Given the description of an element on the screen output the (x, y) to click on. 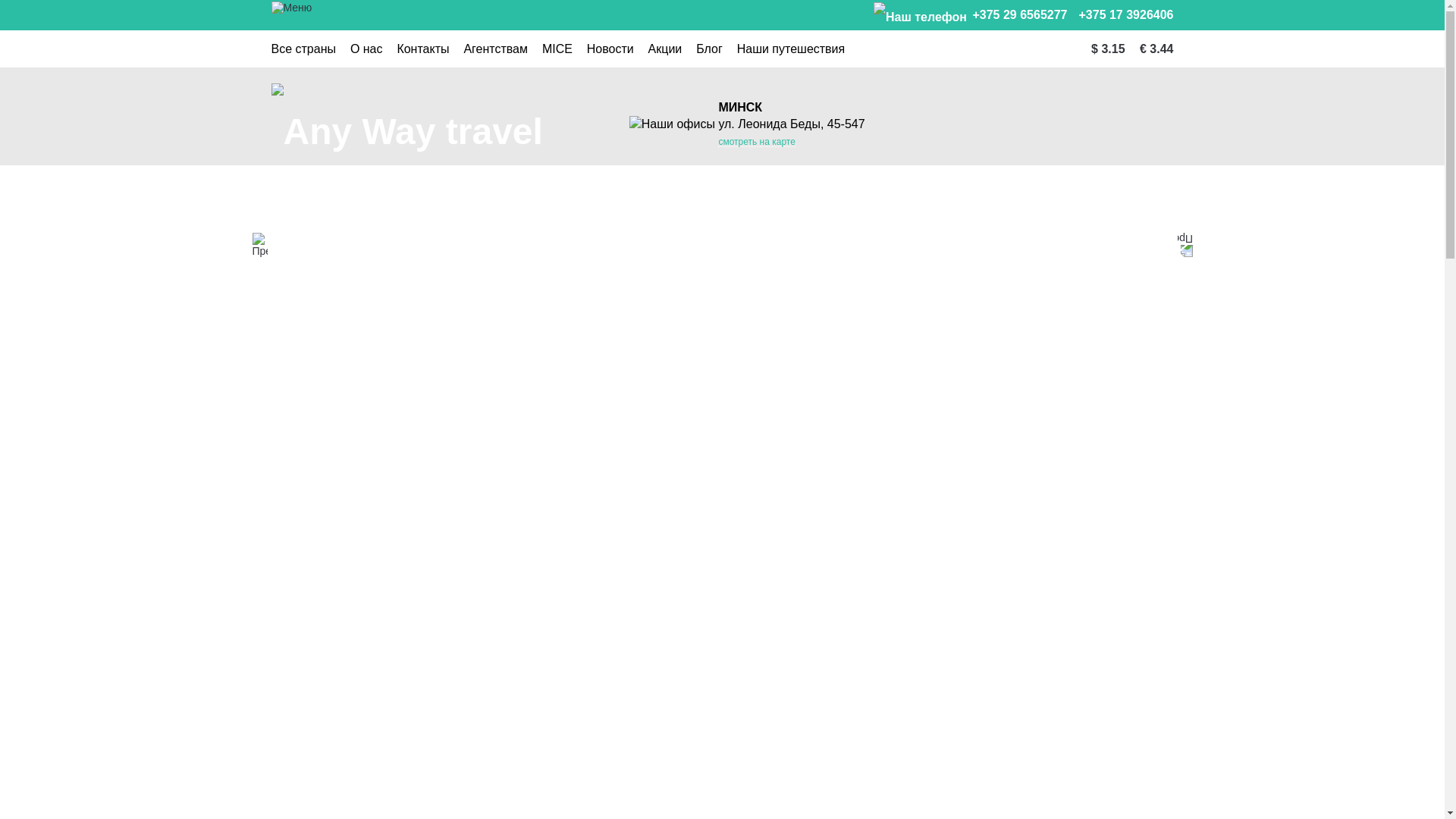
Any Way travel Element type: hover (406, 131)
MICE Element type: text (557, 49)
+375 17 3926406 Element type: text (1125, 15)
+375 29 6565277 Element type: text (970, 16)
